Given the description of an element on the screen output the (x, y) to click on. 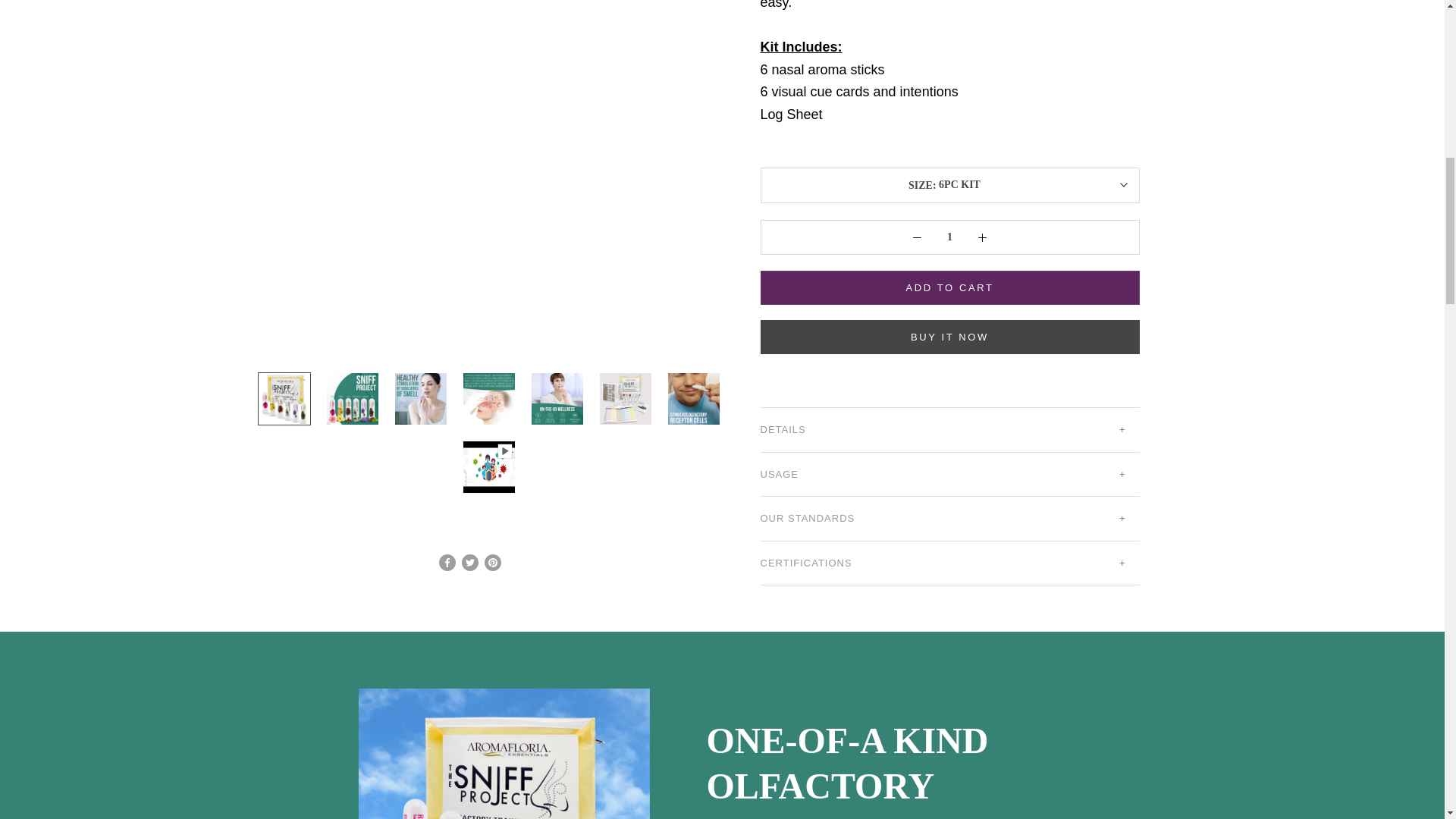
1 (949, 236)
